Given the description of an element on the screen output the (x, y) to click on. 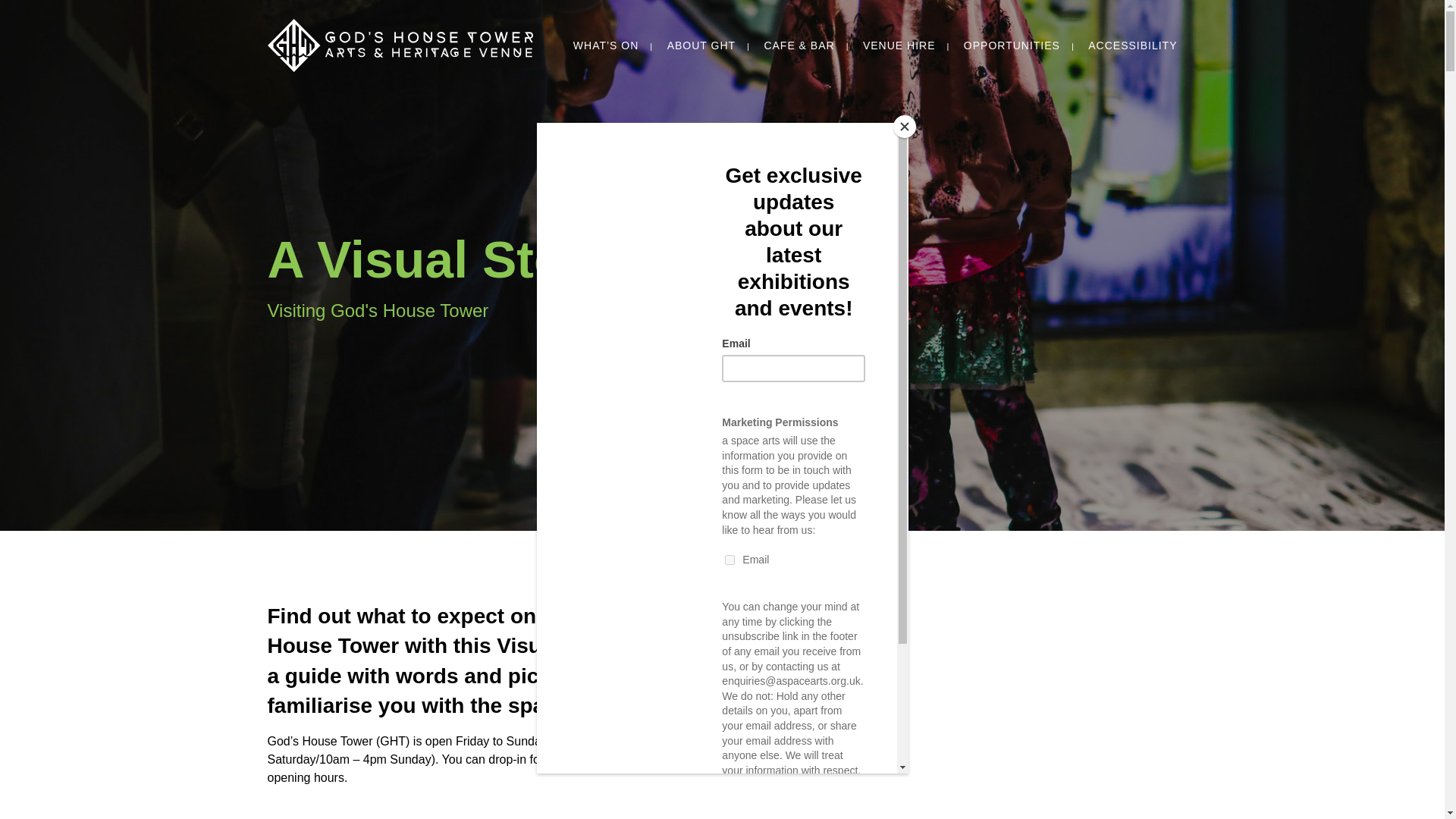
OPPORTUNITIES (1011, 45)
VENUE HIRE (899, 45)
ABOUT GHT (700, 45)
ACCESSIBILITY (1131, 45)
